Given the description of an element on the screen output the (x, y) to click on. 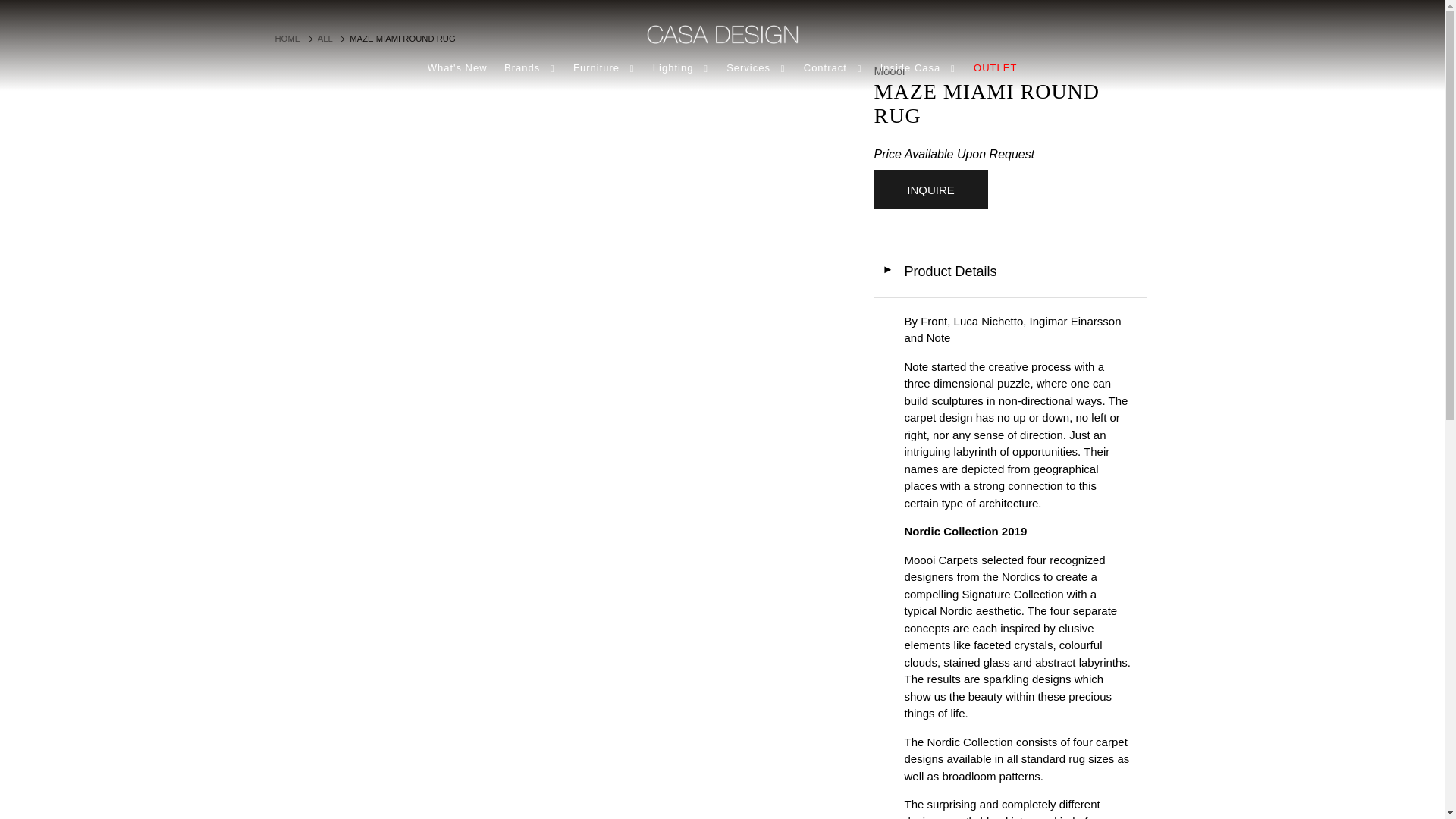
Casa Design Group (721, 33)
Casa Design Group (287, 39)
Furniture (604, 67)
Brands (530, 67)
Moooi (890, 69)
What's New (457, 67)
